Given the description of an element on the screen output the (x, y) to click on. 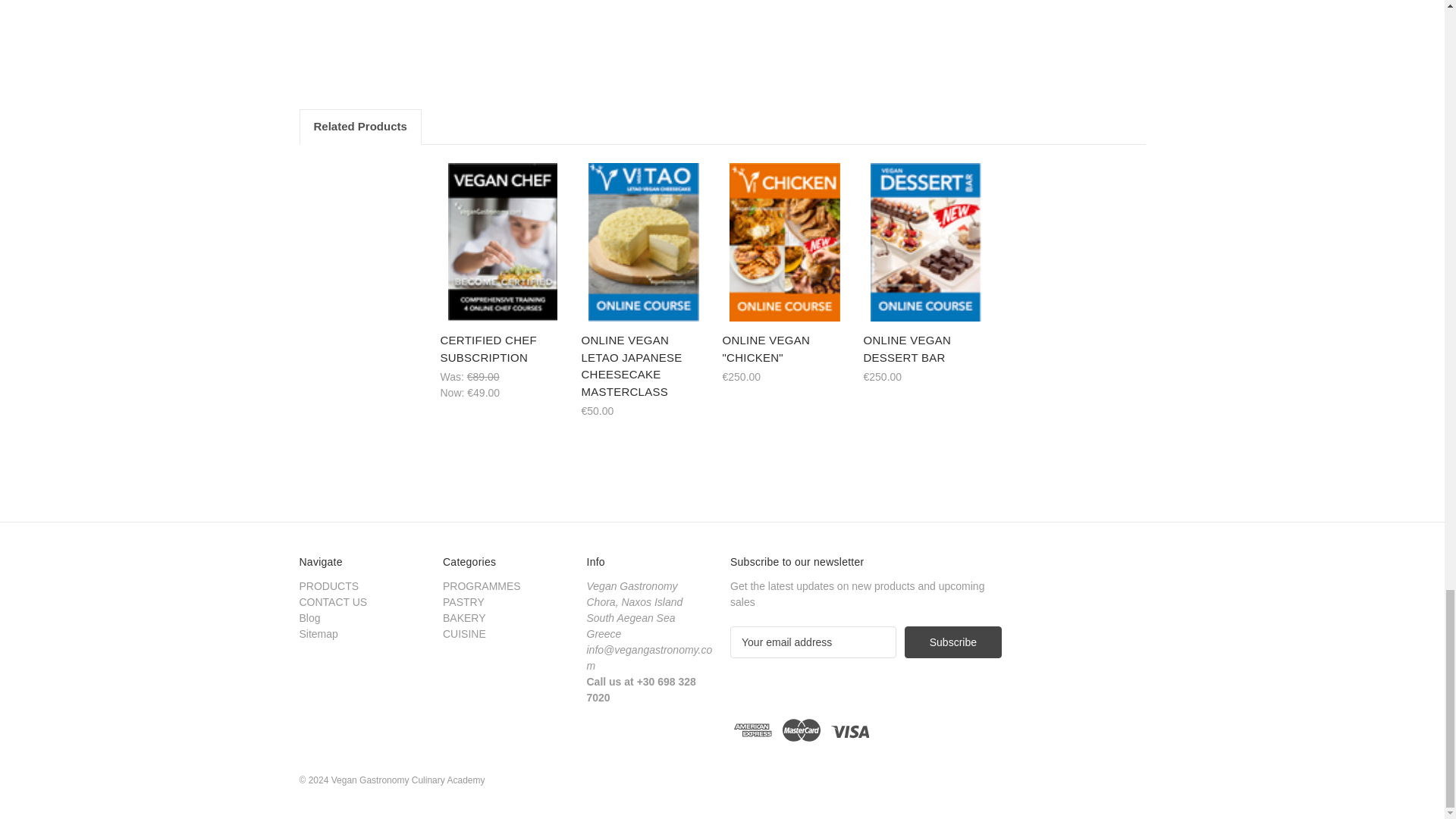
Subscribe (952, 642)
